Given the description of an element on the screen output the (x, y) to click on. 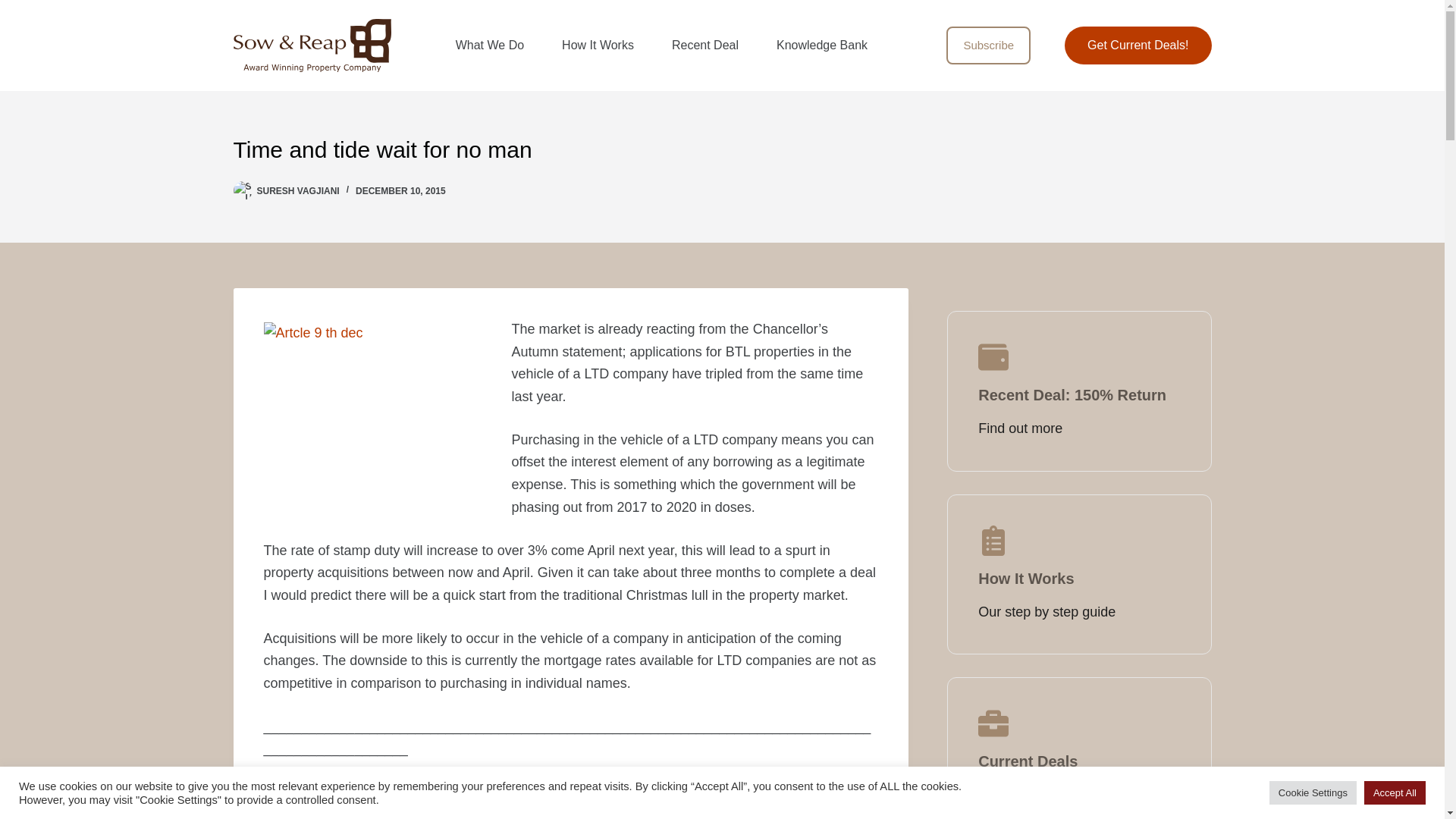
Subscribe (988, 45)
Time and tide wait for no man (721, 149)
Get Current Deals! (1137, 45)
Posts by Suresh Vagjiani (297, 190)
Skip to content (15, 7)
What We Do (489, 45)
Recent Deal (704, 45)
How It Works (597, 45)
SURESH VAGJIANI (297, 190)
Knowledge Bank (821, 45)
